Given the description of an element on the screen output the (x, y) to click on. 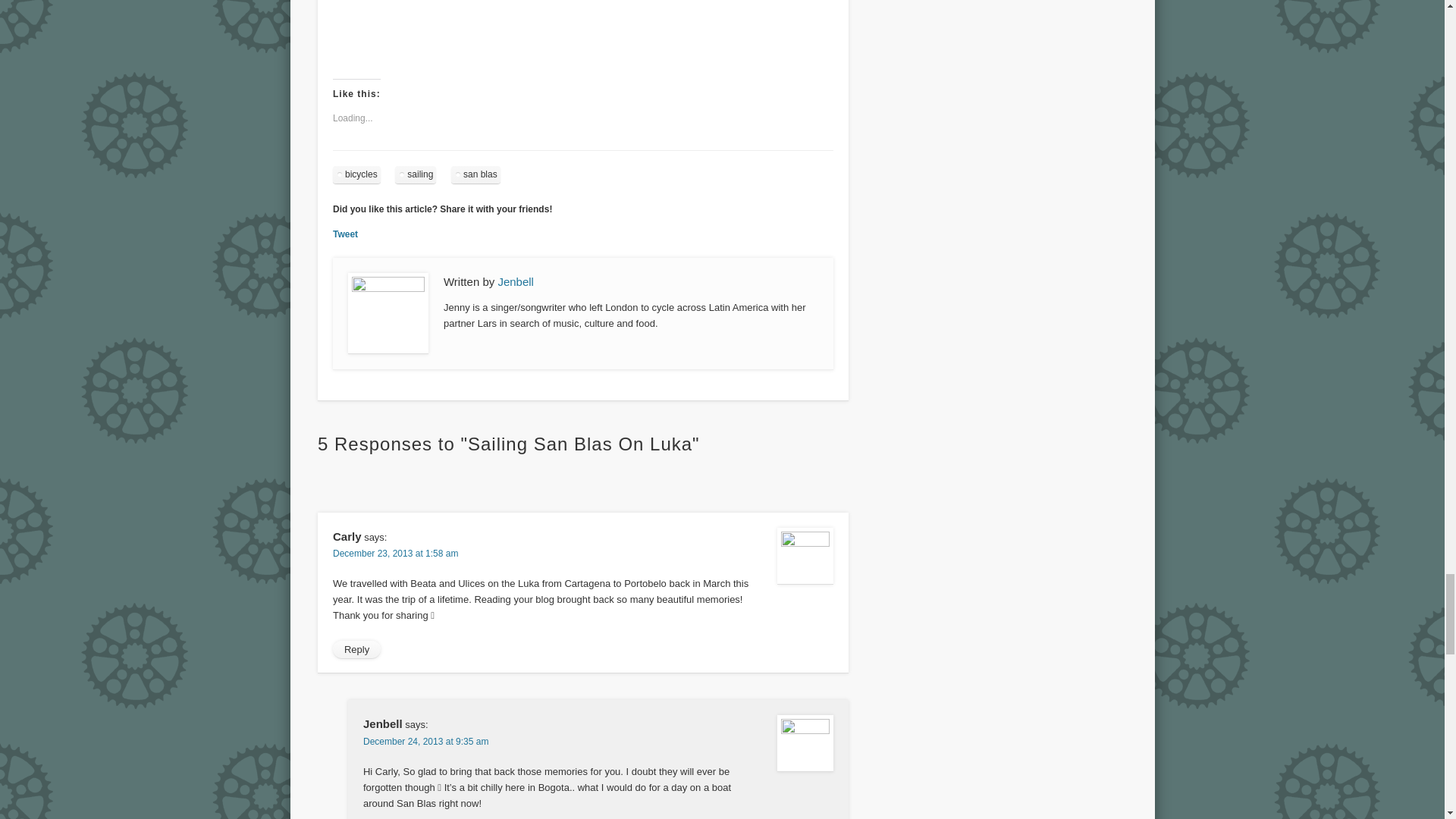
Posts by Jenbell (515, 281)
